Given the description of an element on the screen output the (x, y) to click on. 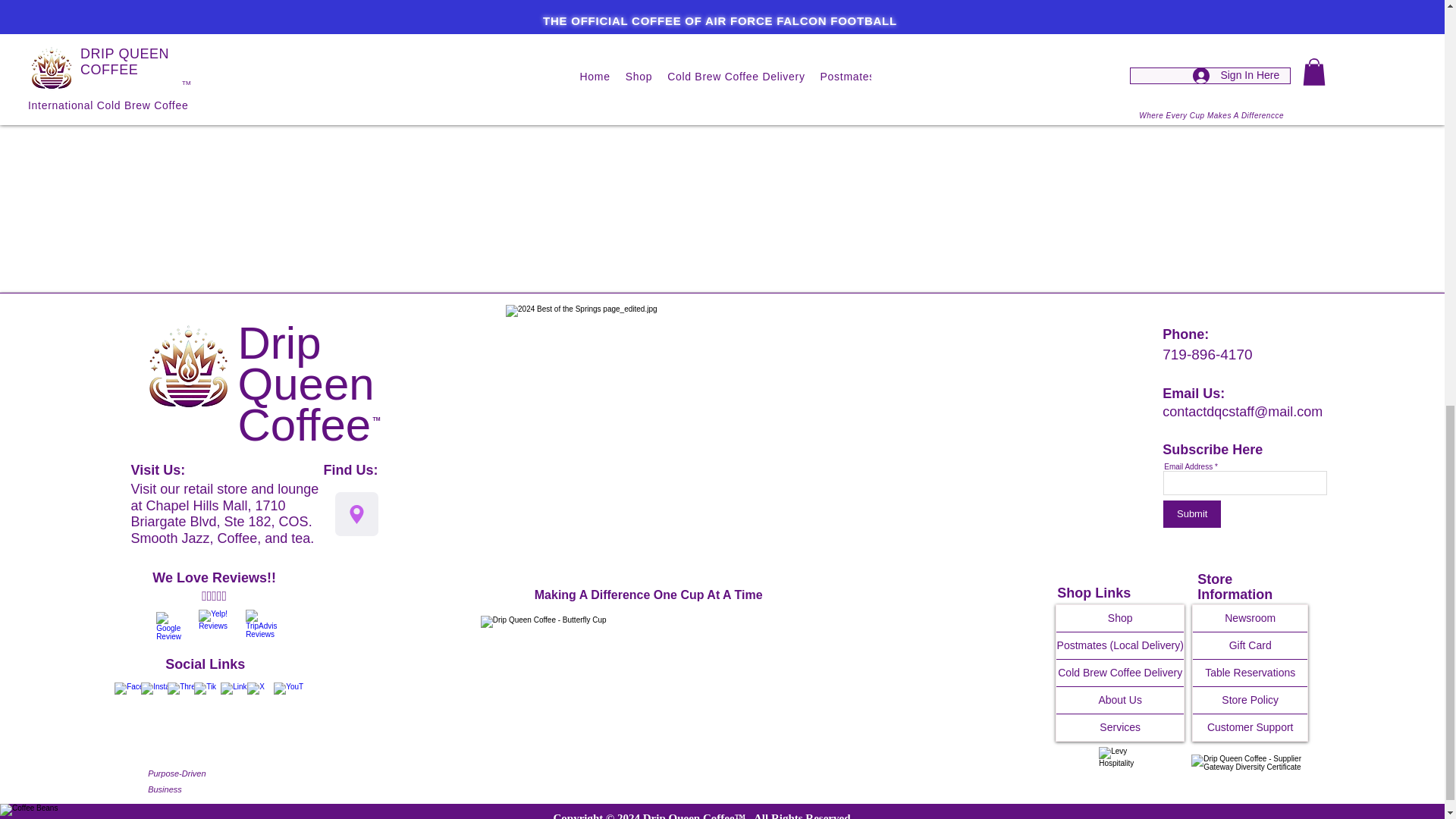
Submit (1192, 513)
Drip Queen Coffee (306, 383)
Cold Brew Coffee Delivery (1120, 673)
Shop (1120, 618)
Newsroom (1249, 618)
